Given the description of an element on the screen output the (x, y) to click on. 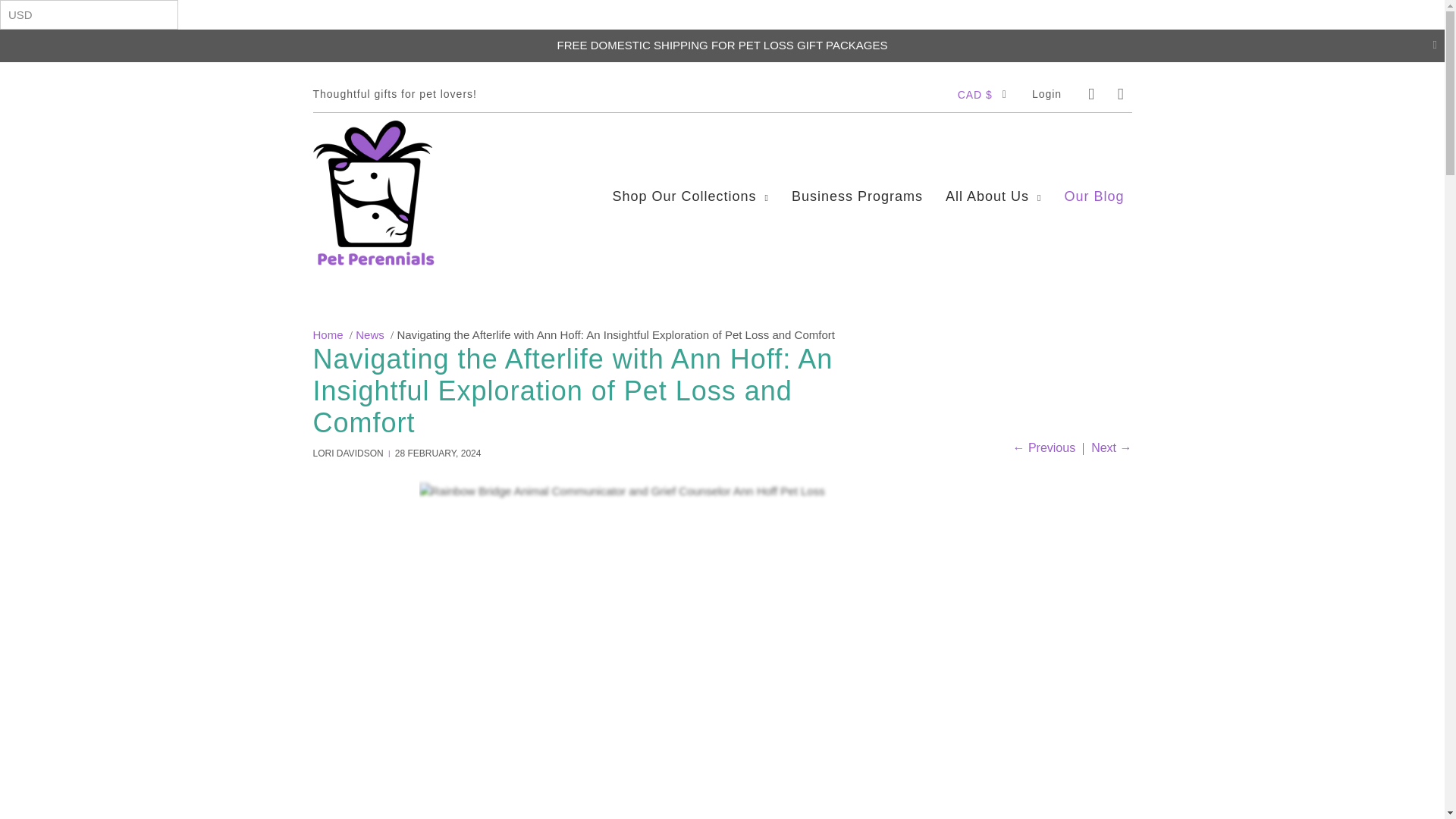
CDF (992, 767)
BDT (992, 467)
AFN (992, 166)
ALL (992, 200)
AUD (992, 299)
BBD (992, 433)
BND (992, 566)
BGN (992, 500)
Search (1091, 93)
CAD (992, 734)
BZD (992, 700)
BOB (992, 600)
CHF (992, 800)
My Account  (1046, 93)
BIF (992, 533)
